Given the description of an element on the screen output the (x, y) to click on. 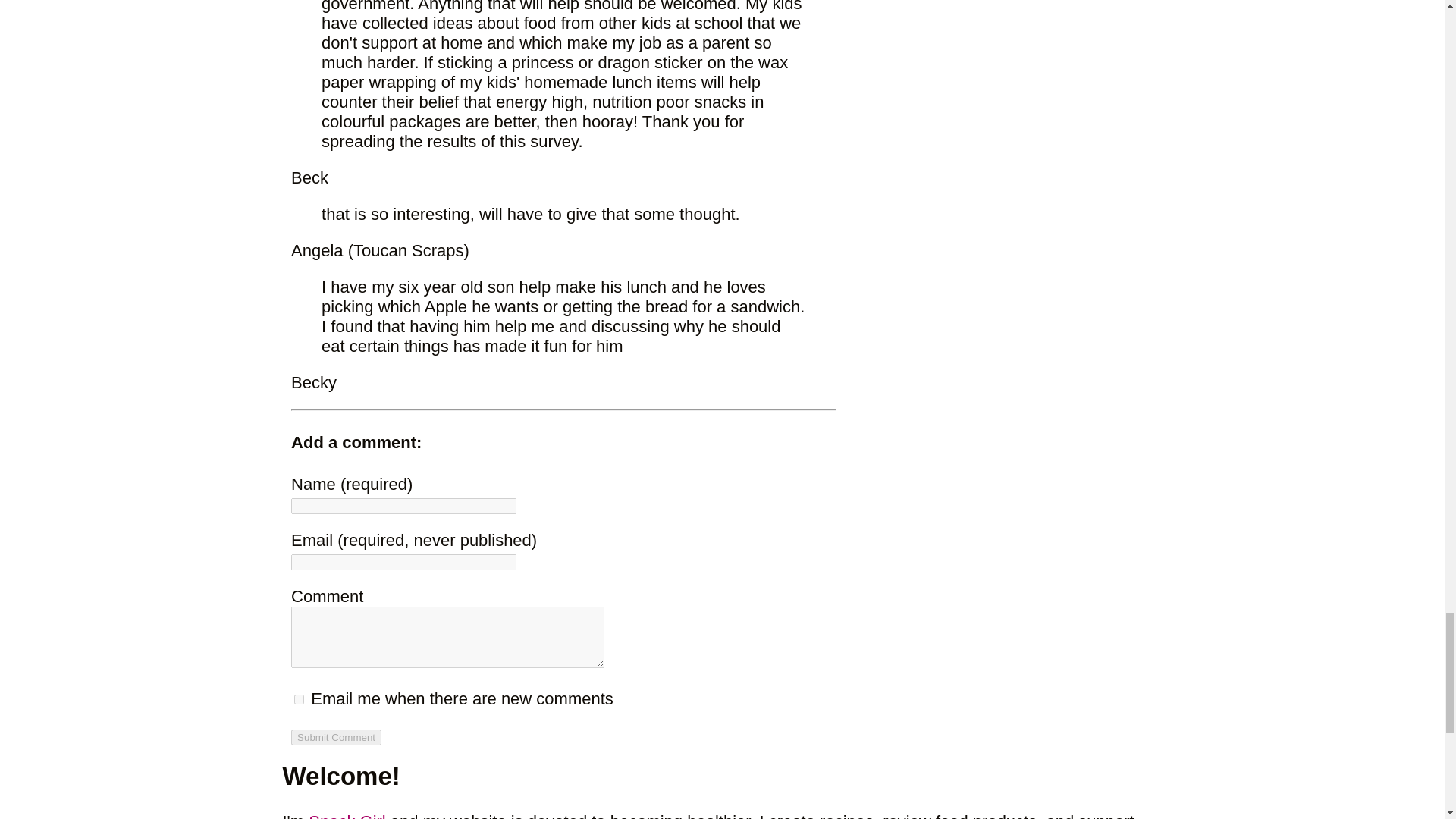
Submit Comment (336, 737)
Snack Girl (346, 815)
on (299, 699)
Submit Comment (336, 737)
